Given the description of an element on the screen output the (x, y) to click on. 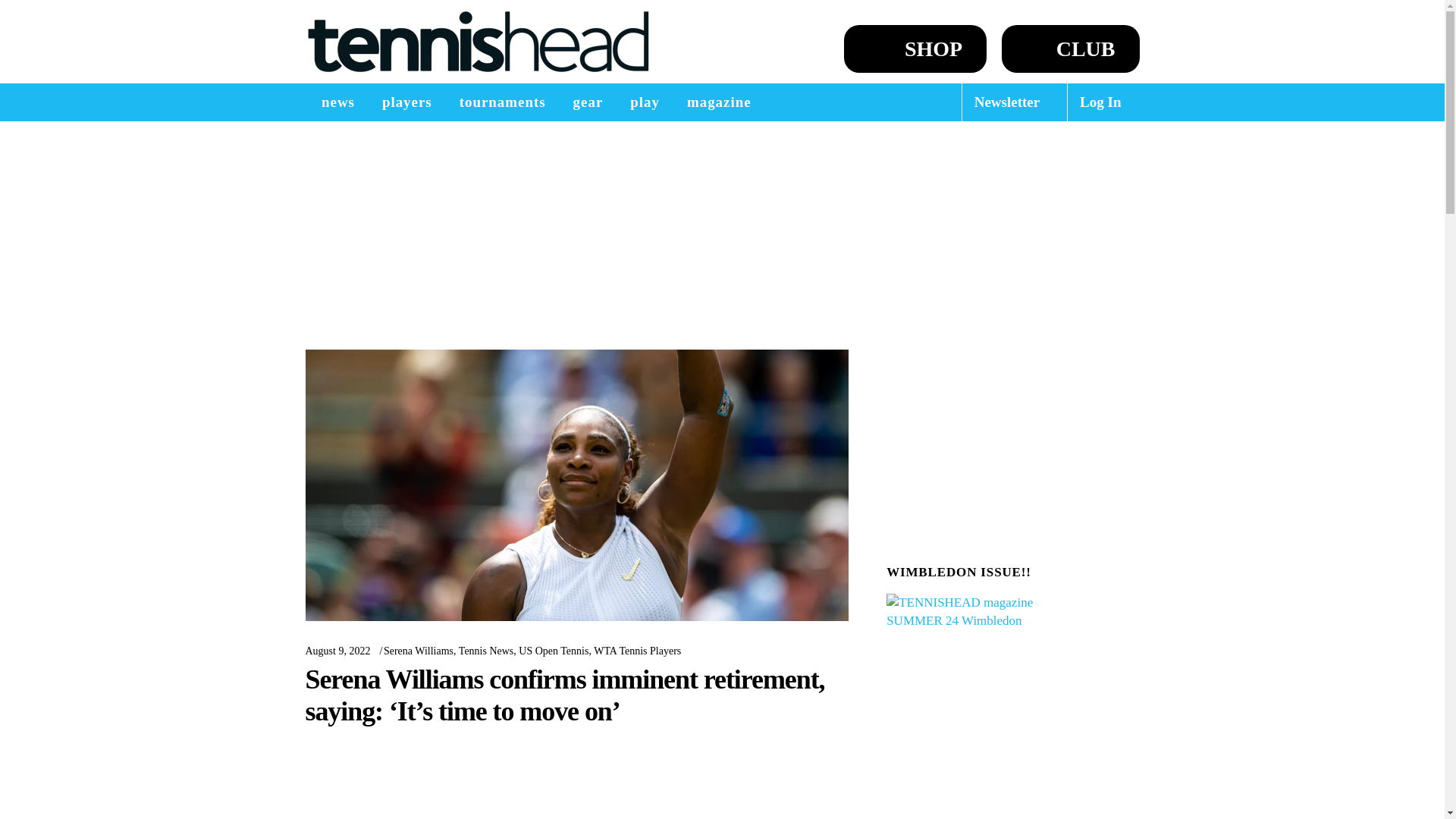
players (406, 102)
news (337, 102)
gear (588, 102)
SHOP (915, 48)
tournaments (502, 102)
play (643, 102)
CLUB (1070, 48)
